Given the description of an element on the screen output the (x, y) to click on. 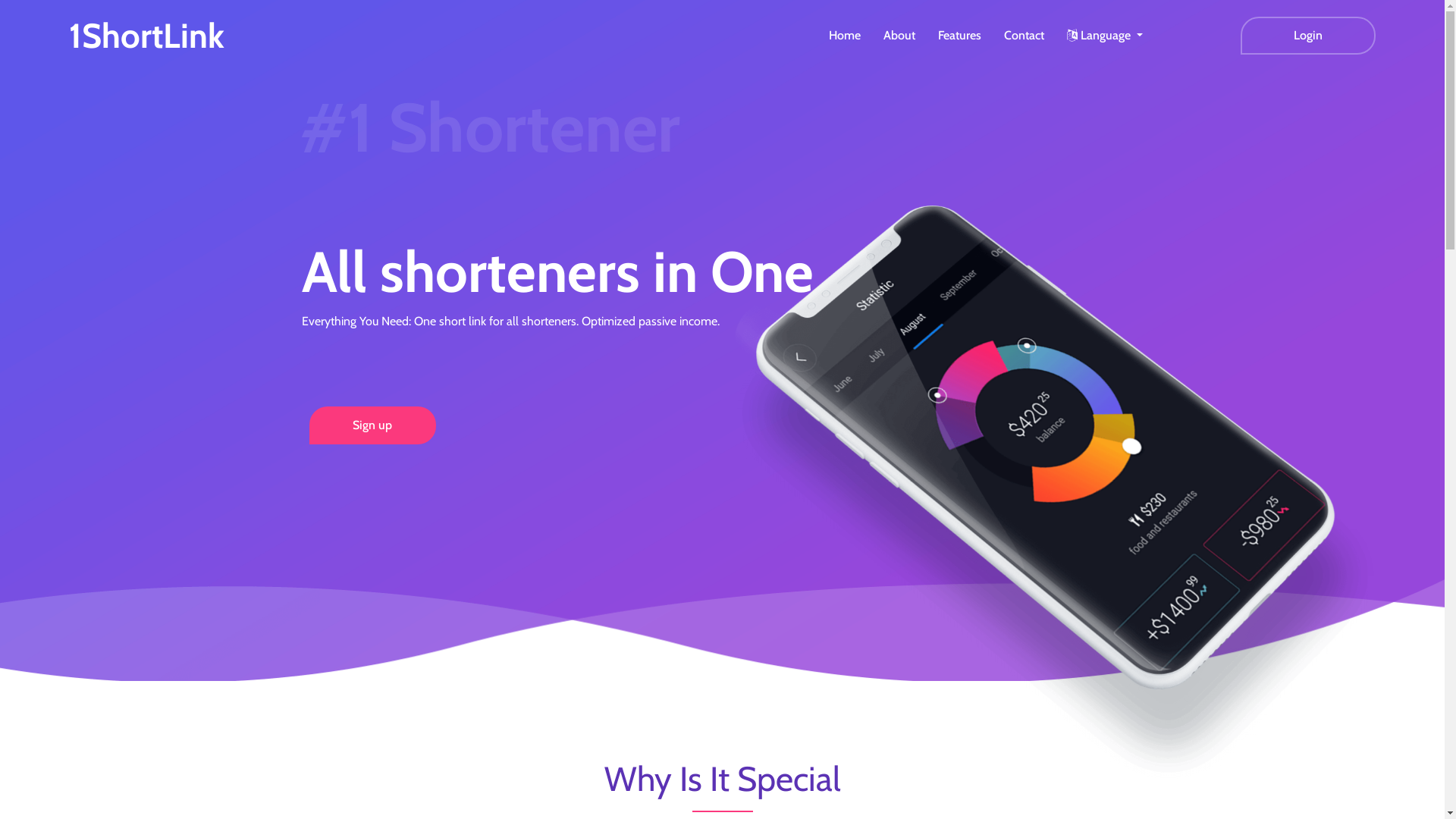
Contact Element type: text (846, 686)
Terms & Conditions Element type: text (675, 686)
Home Element type: text (844, 35)
Contact Element type: text (1023, 35)
About Element type: text (899, 35)
Sign up Element type: text (372, 425)
1ShortLink Element type: text (146, 35)
Language Element type: text (1104, 35)
Features Element type: text (959, 35)
Privacy Policy Element type: text (776, 686)
About Element type: text (593, 686)
Login Element type: text (1307, 35)
